Given the description of an element on the screen output the (x, y) to click on. 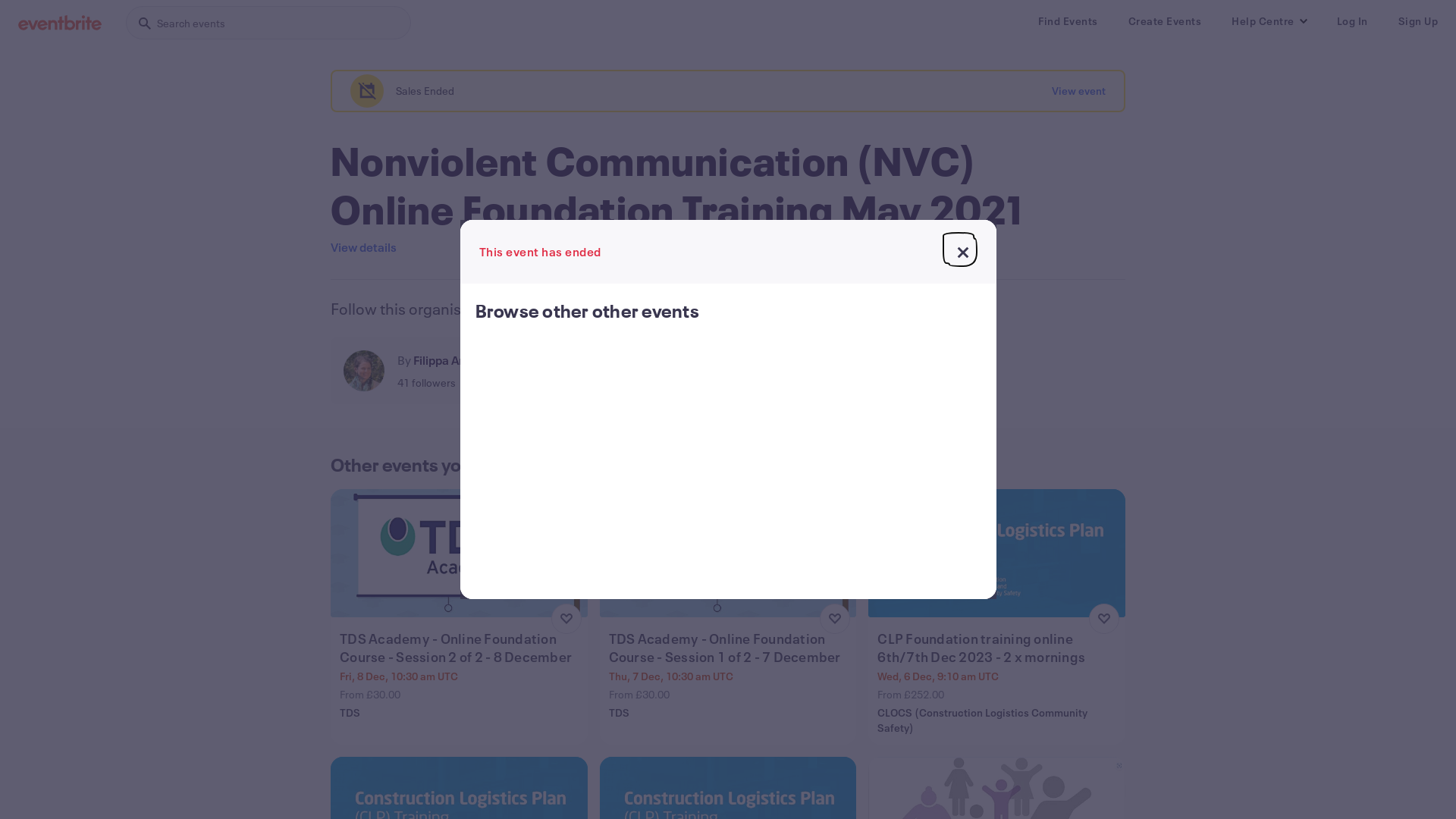
Find Events Element type: text (1068, 21)
Sign Up Element type: text (1418, 21)
Create Events Element type: text (1165, 21)
View details Element type: text (363, 246)
Log In Element type: text (1351, 21)
Eventbrite Element type: hover (59, 22)
View event Element type: text (1078, 90)
Search events Element type: text (268, 22)
Follow Element type: text (531, 370)
